Given the description of an element on the screen output the (x, y) to click on. 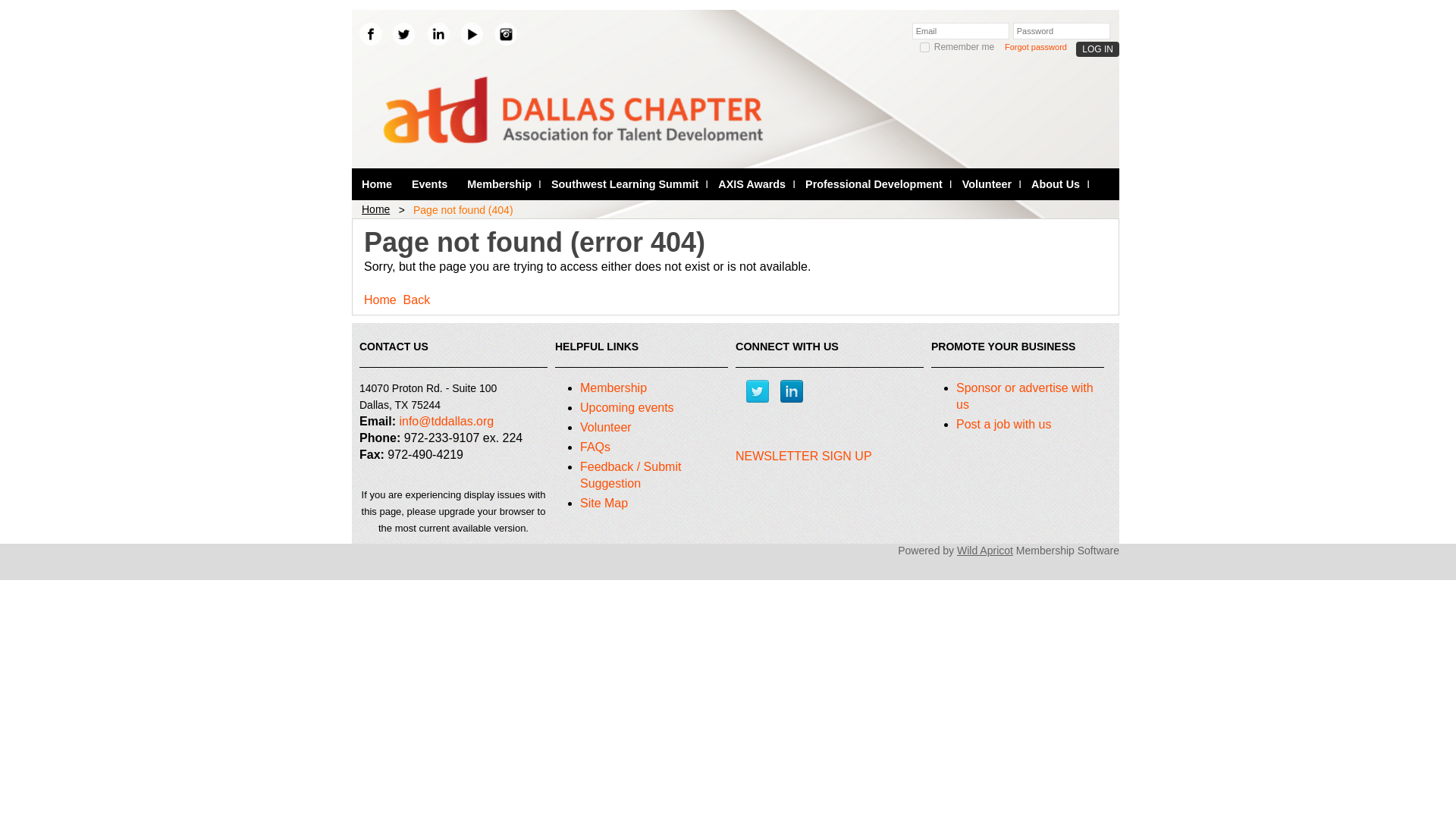
Professional Development (873, 183)
YouTube (471, 33)
Events (429, 183)
Home (376, 183)
Facebook (370, 33)
Membership (499, 183)
LinkedIn (437, 33)
Home (376, 183)
Forgot password (1035, 46)
Southwest Learning Summit (624, 183)
Southwest Learning Summit (624, 183)
Twitter (403, 33)
Log in (1097, 48)
Log in (1097, 48)
Membership (499, 183)
